Given the description of an element on the screen output the (x, y) to click on. 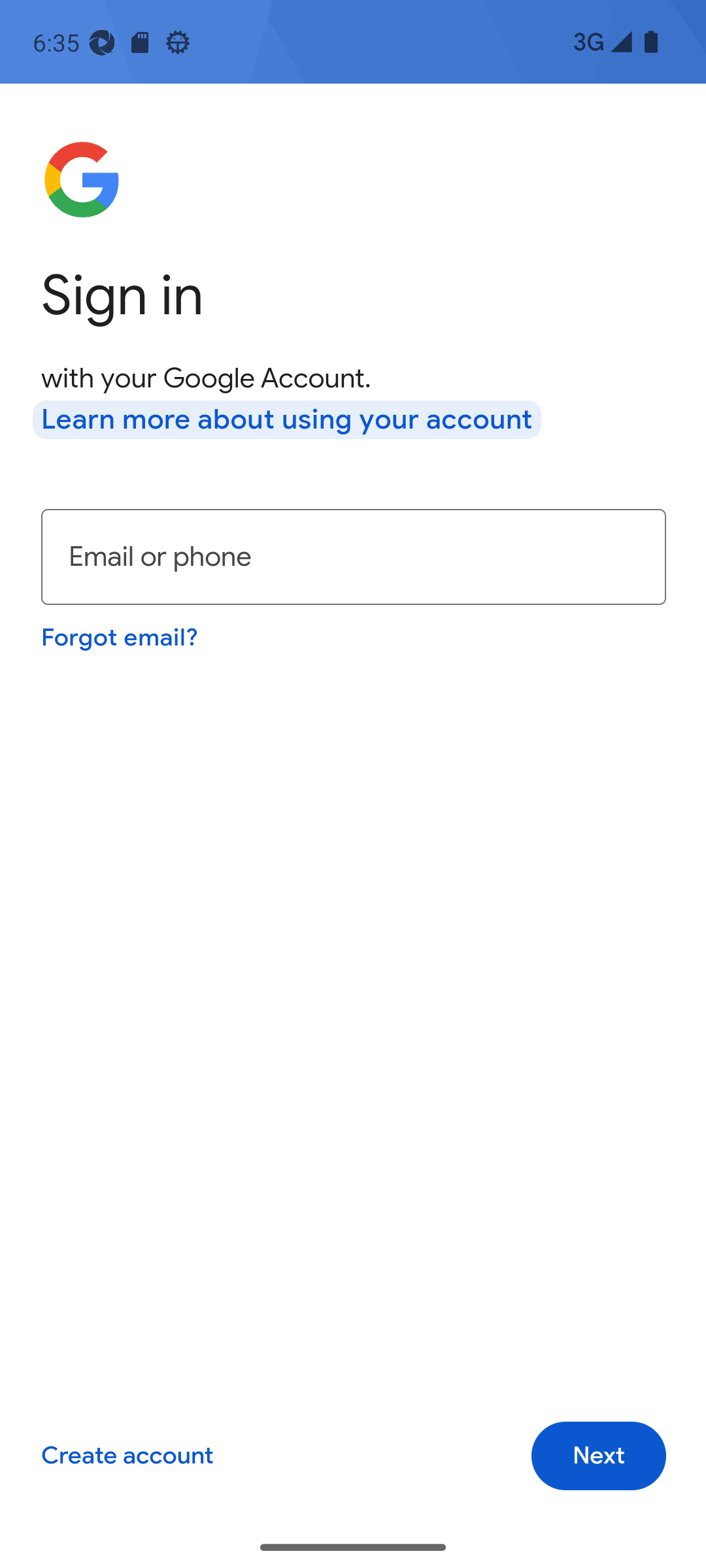
Learn more about using your account (286, 419)
Forgot email? (119, 635)
Create account (127, 1455)
Next (598, 1455)
